Given the description of an element on the screen output the (x, y) to click on. 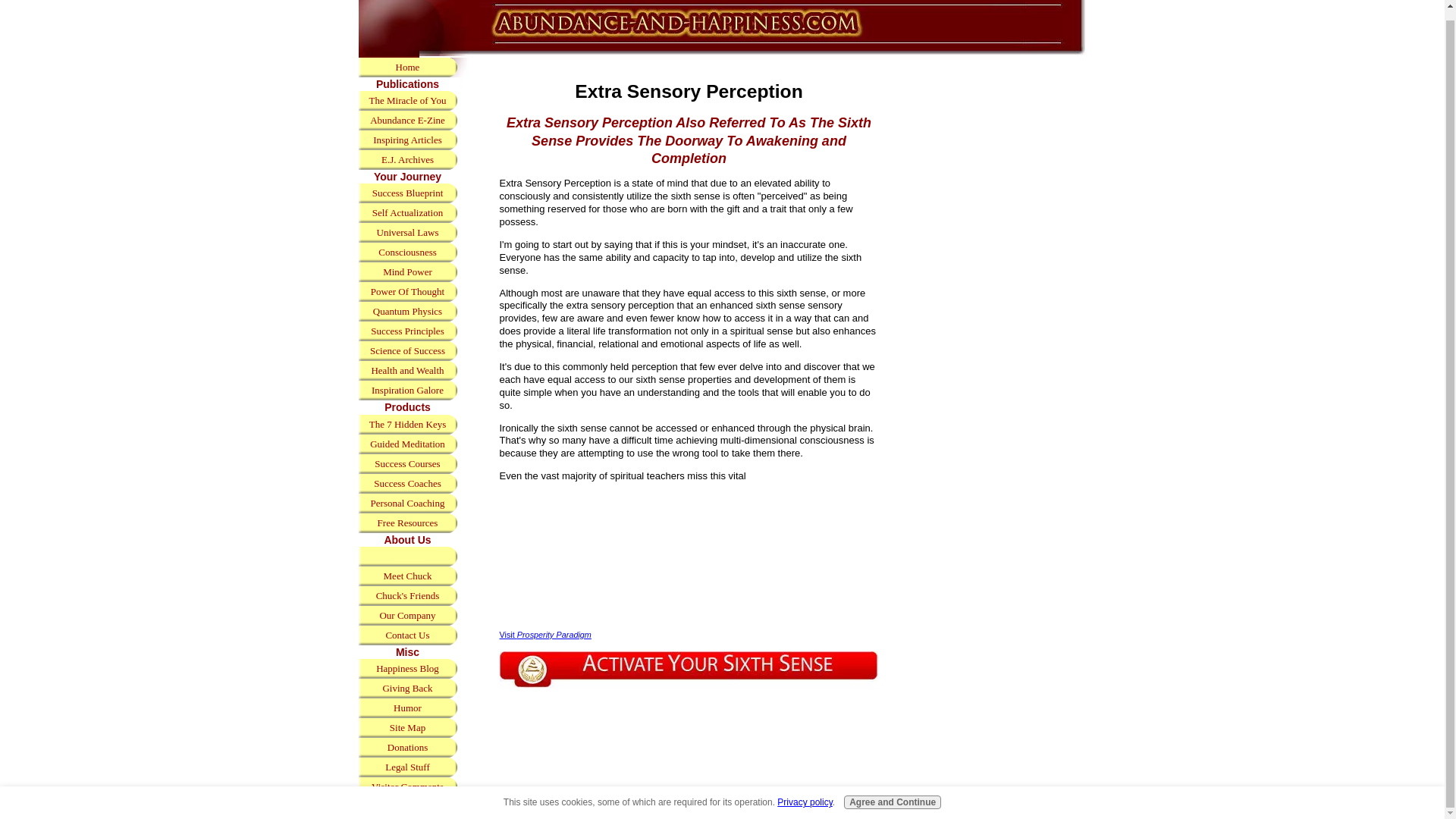
Contact Us (407, 635)
Meet Chuck (407, 576)
Personal Coaching (407, 503)
Abundance E-Zine (407, 120)
The 7 Hidden Keys (407, 424)
Privacy policy (804, 792)
Success Coaches (407, 483)
Inspiration Galore (407, 390)
Guided Meditation (407, 444)
Science of Success (407, 351)
Humor (407, 708)
Self Actualization (407, 212)
The Miracle of You (407, 100)
Conscious Warriors (407, 806)
Quantum Physics (407, 311)
